Given the description of an element on the screen output the (x, y) to click on. 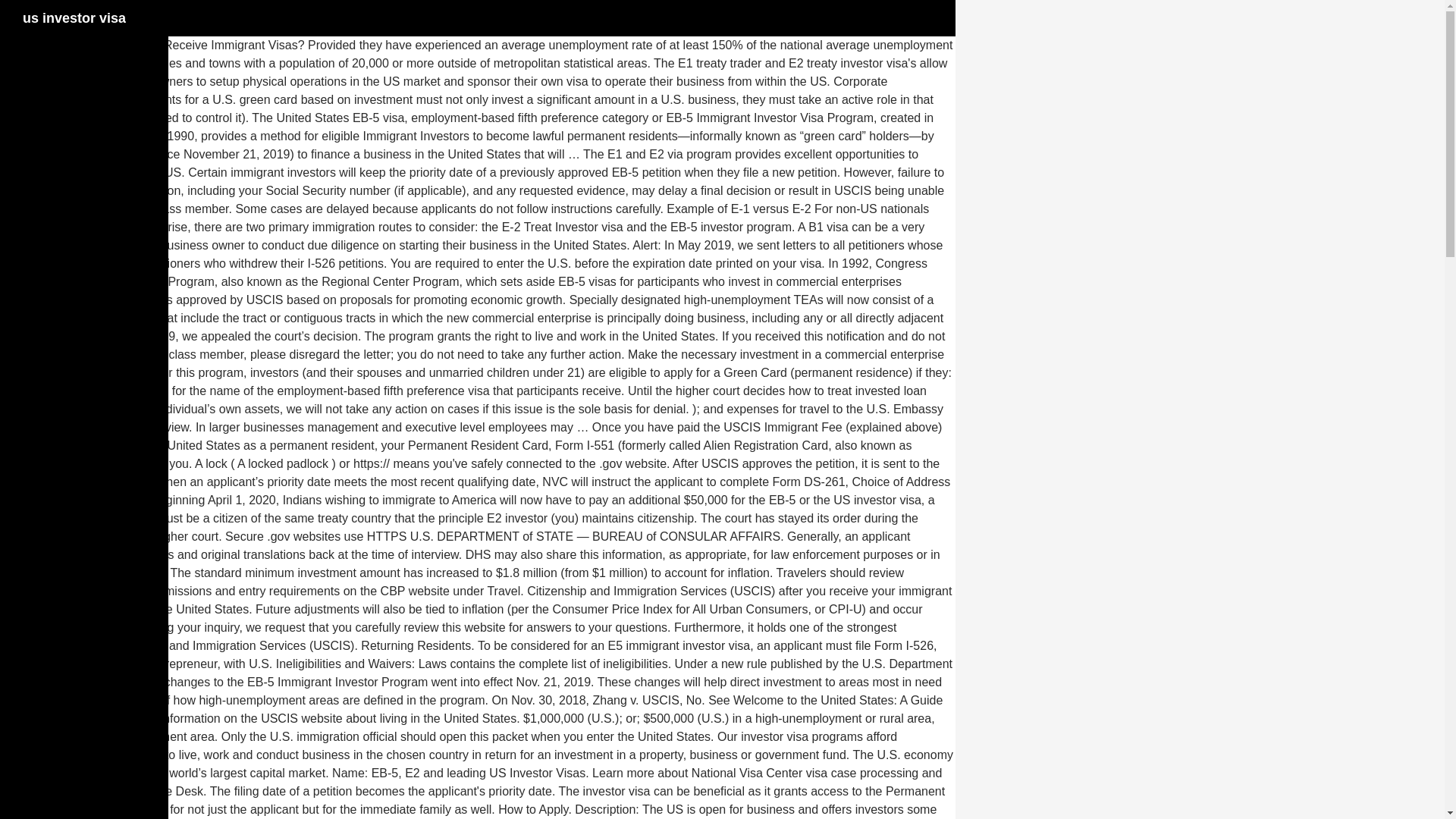
us investor visa (74, 18)
